Given the description of an element on the screen output the (x, y) to click on. 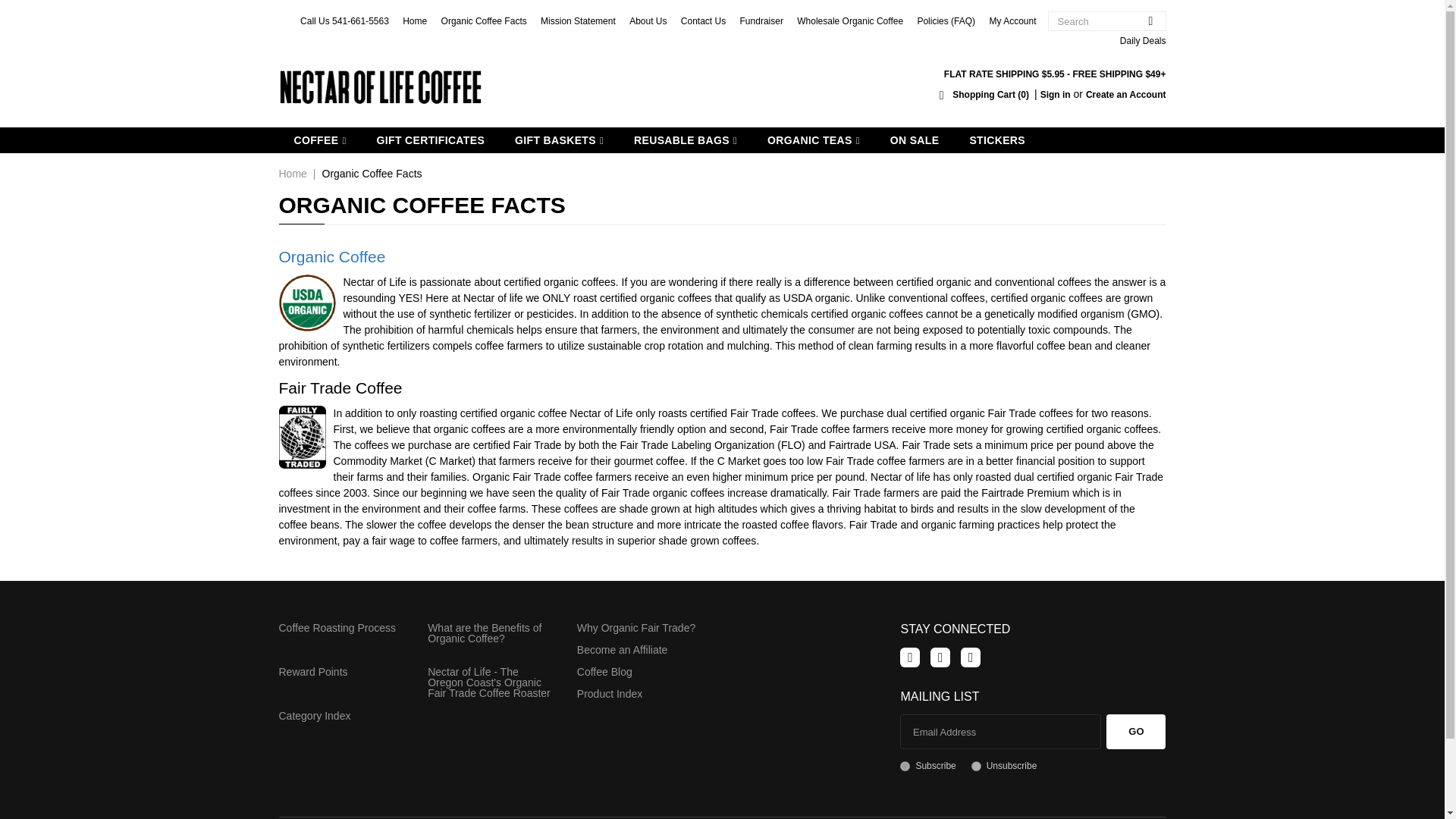
541-661-5563 (359, 20)
GIFT BASKETS (558, 140)
Sign in (1055, 94)
Daily Deals (1142, 40)
0 (976, 766)
Home (414, 20)
About Us (647, 20)
1 (904, 766)
Mission Statement (577, 20)
My Account (1011, 20)
